Given the description of an element on the screen output the (x, y) to click on. 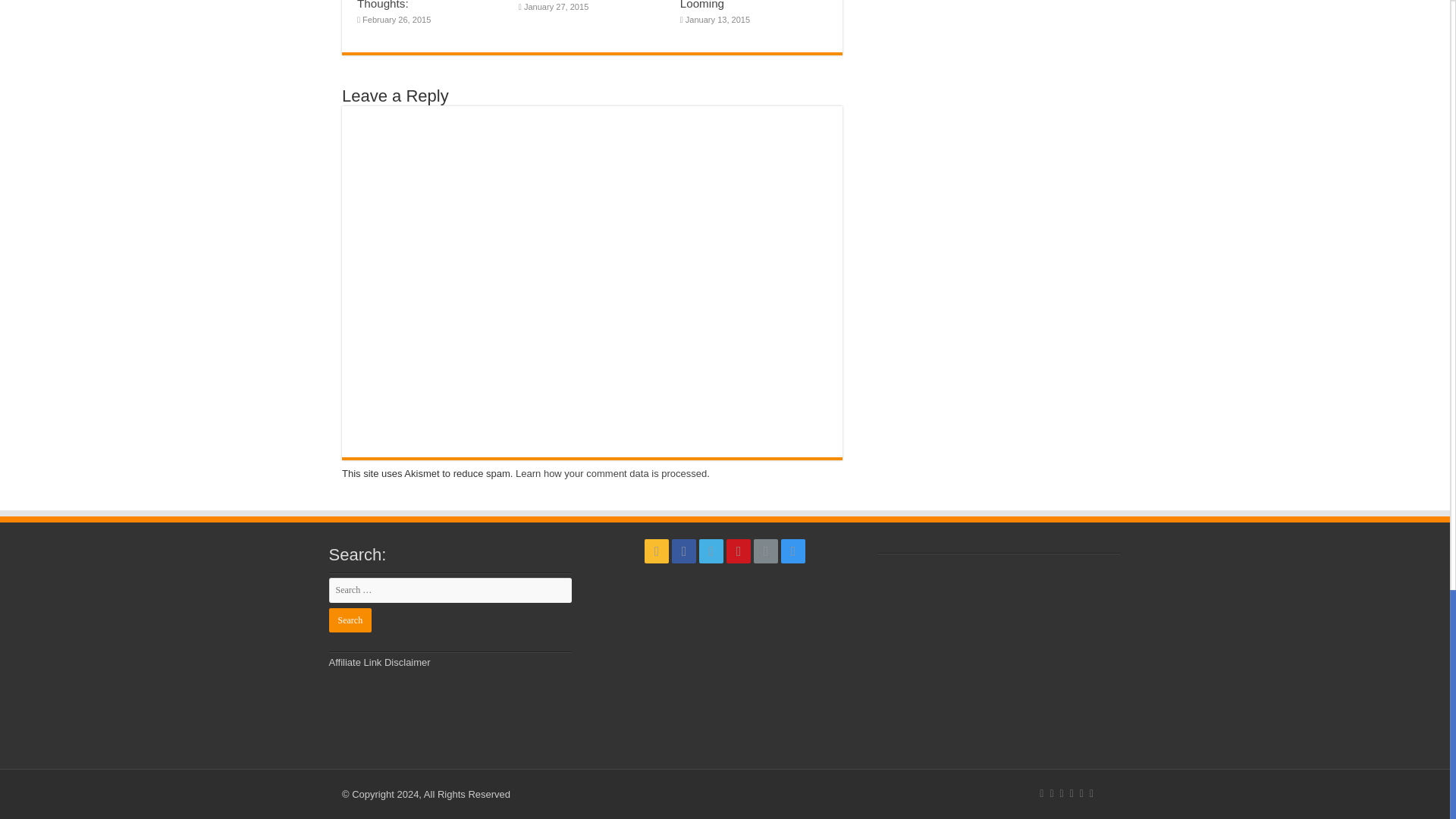
Search (350, 620)
Icemageddeon 2015 is Looming (737, 4)
Random Power Outage Thoughts: (416, 4)
Search (350, 620)
